Given the description of an element on the screen output the (x, y) to click on. 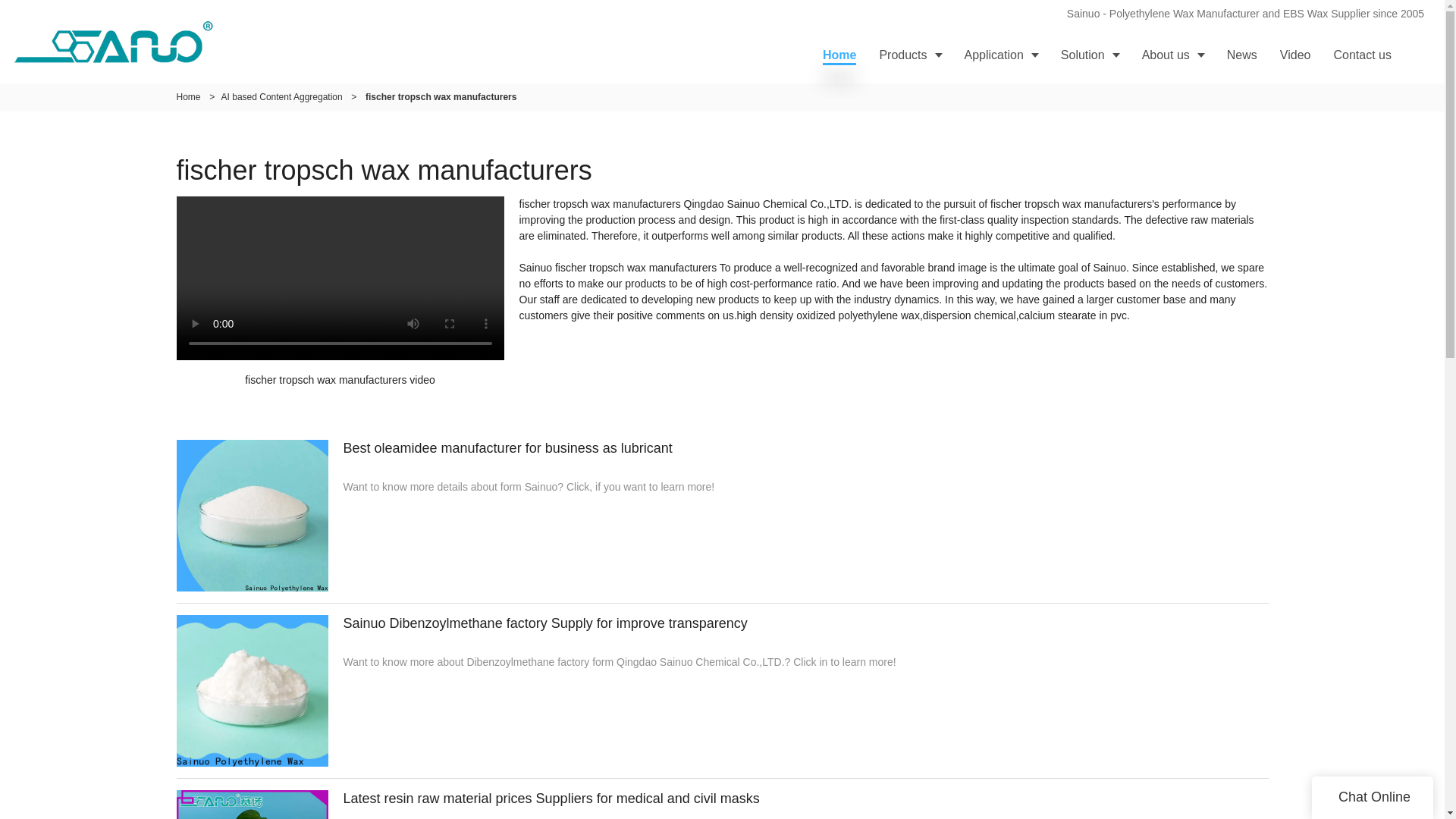
Home (838, 55)
Contact us (1362, 55)
News (1241, 55)
About us (1173, 55)
Application (1001, 55)
Video (1295, 55)
Home (188, 96)
Products (909, 55)
